Given the description of an element on the screen output the (x, y) to click on. 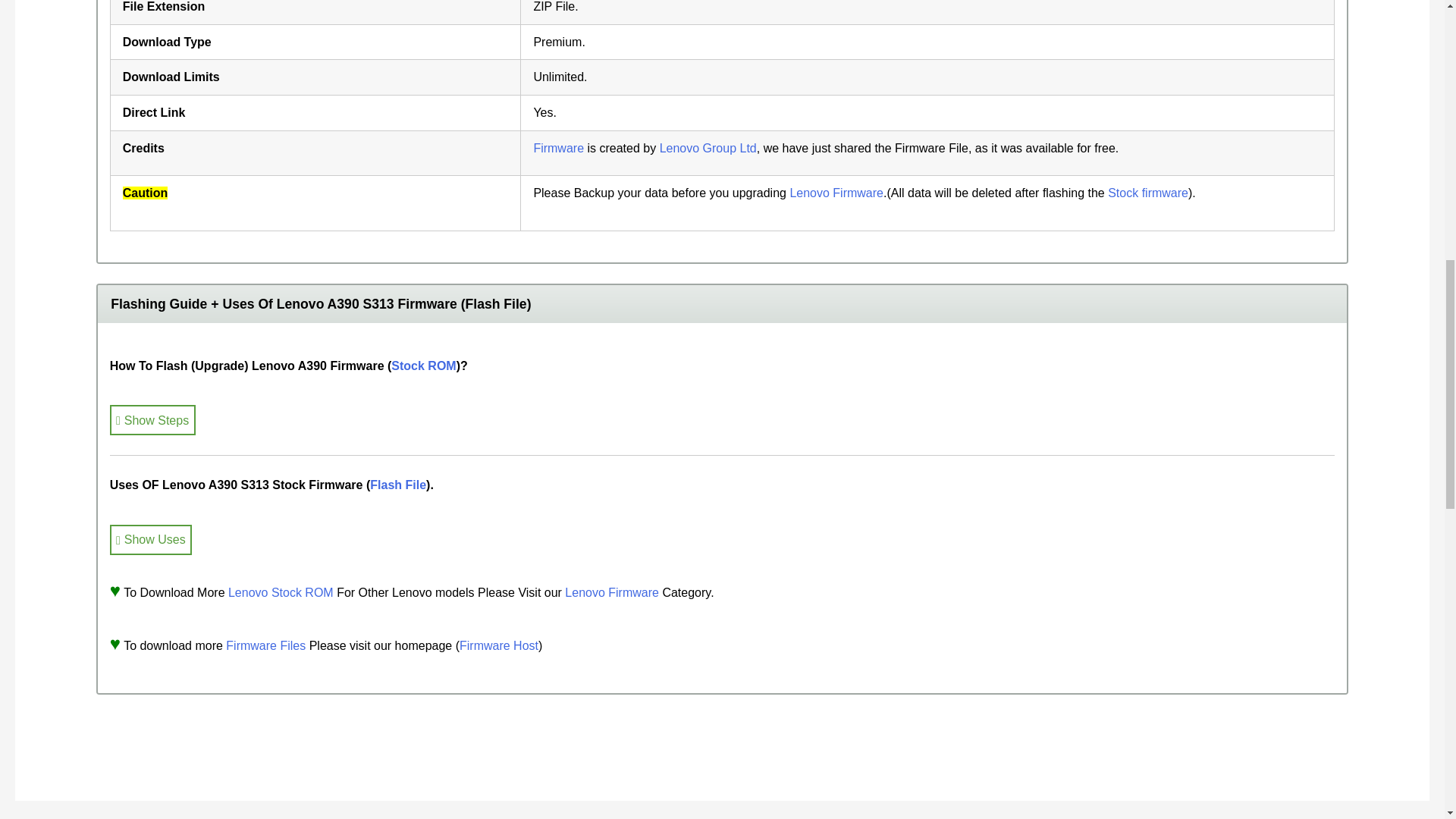
Firmware Host (499, 645)
Lenovo Group Ltd (708, 147)
Lenovo Firmware (836, 192)
Lenovo Firmware  (613, 592)
Flash File (397, 484)
Stock ROM (423, 365)
Show Uses (151, 539)
Firmware (557, 147)
Show Steps (152, 419)
Firmware Files (265, 645)
Stock firmware (1148, 192)
Lenovo Stock ROM (280, 592)
